Given the description of an element on the screen output the (x, y) to click on. 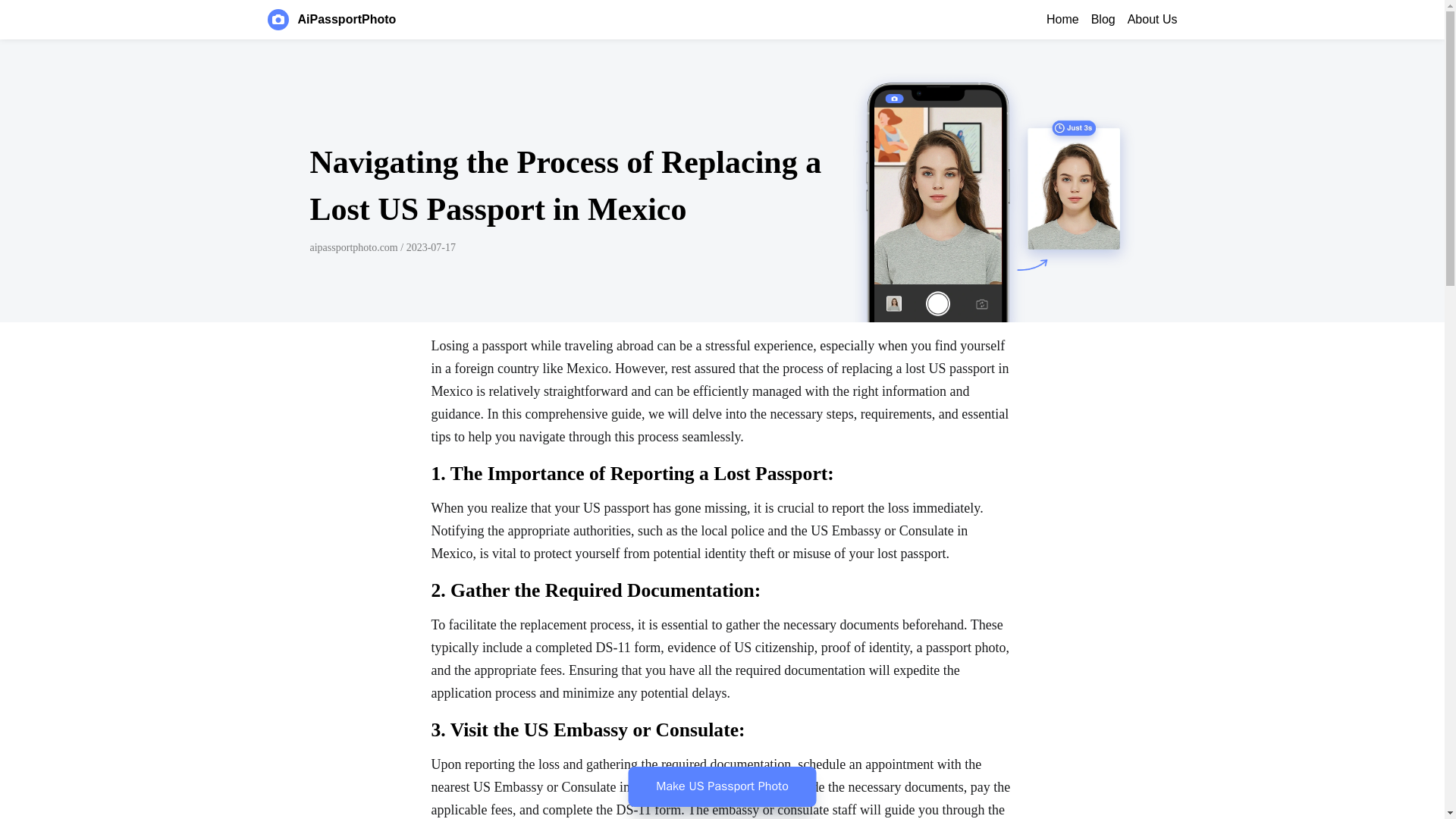
About Us (1151, 19)
Home (1062, 19)
Blog (1102, 19)
Make US Passport Photo (721, 786)
